Given the description of an element on the screen output the (x, y) to click on. 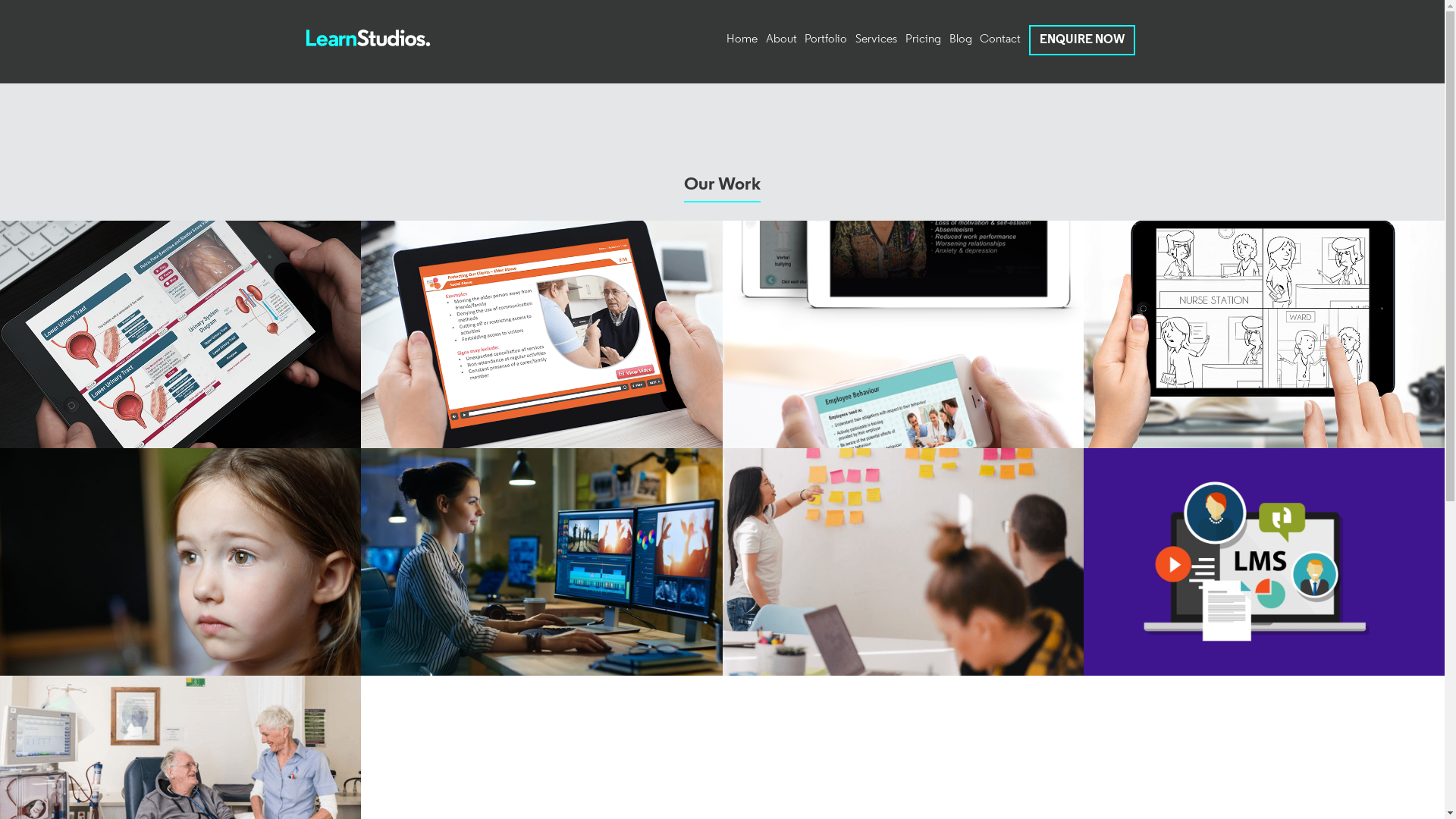
ENQUIRE NOW Element type: text (1082, 40)
Pricing Element type: text (923, 39)
Services Element type: text (876, 39)
Portfolio Element type: text (825, 39)
About Element type: text (781, 39)
Home Element type: text (741, 39)
Blog Element type: text (960, 39)
Contact Element type: text (999, 39)
